Given the description of an element on the screen output the (x, y) to click on. 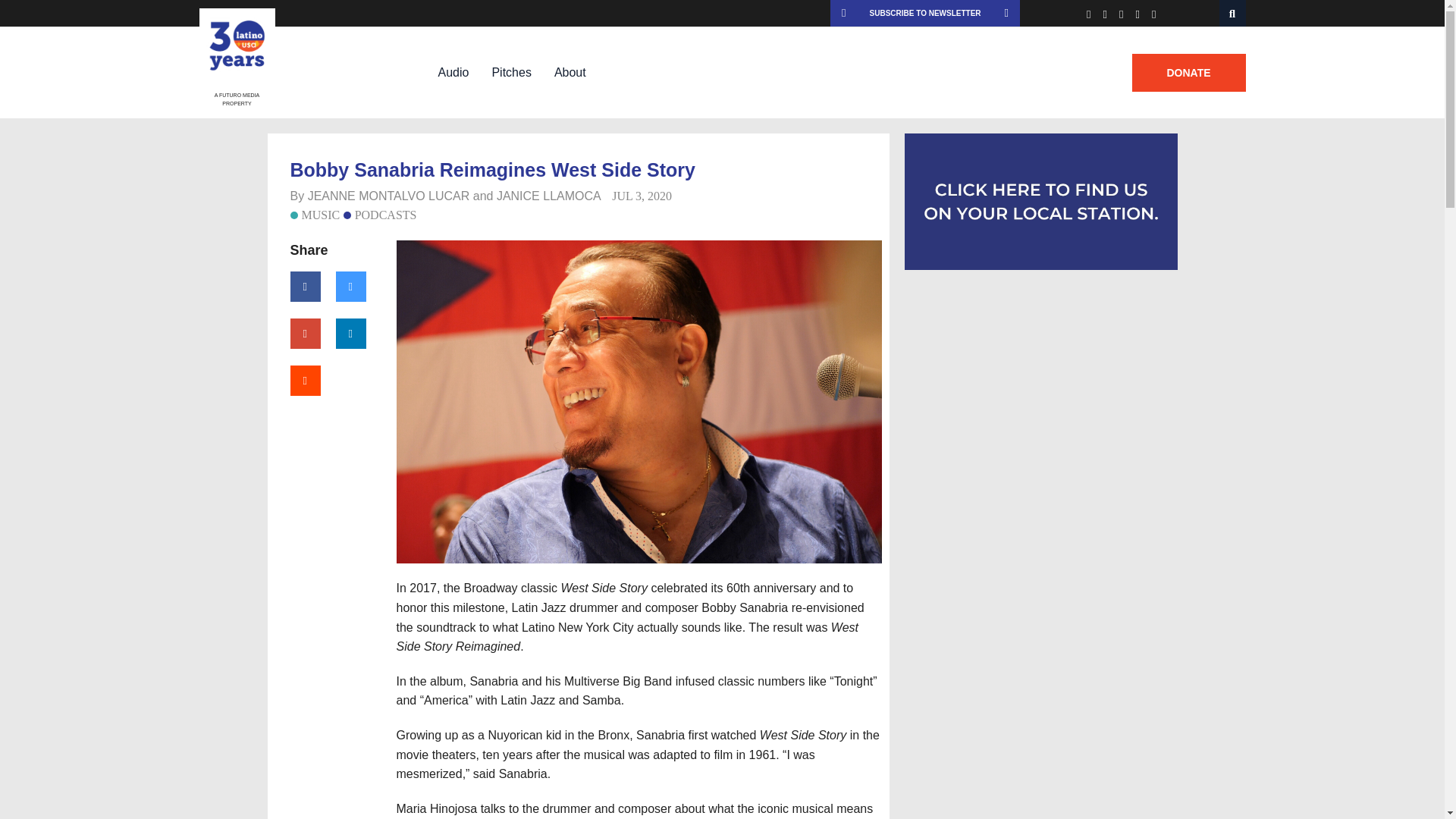
PODCASTS (379, 214)
Search (1233, 13)
MUSIC (314, 214)
JANICE LLAMOCA (548, 195)
DONATE (1187, 72)
Search (1233, 13)
Search (1233, 13)
JEANNE MONTALVO LUCAR (388, 195)
Subscribe to newsletter (924, 13)
